Given the description of an element on the screen output the (x, y) to click on. 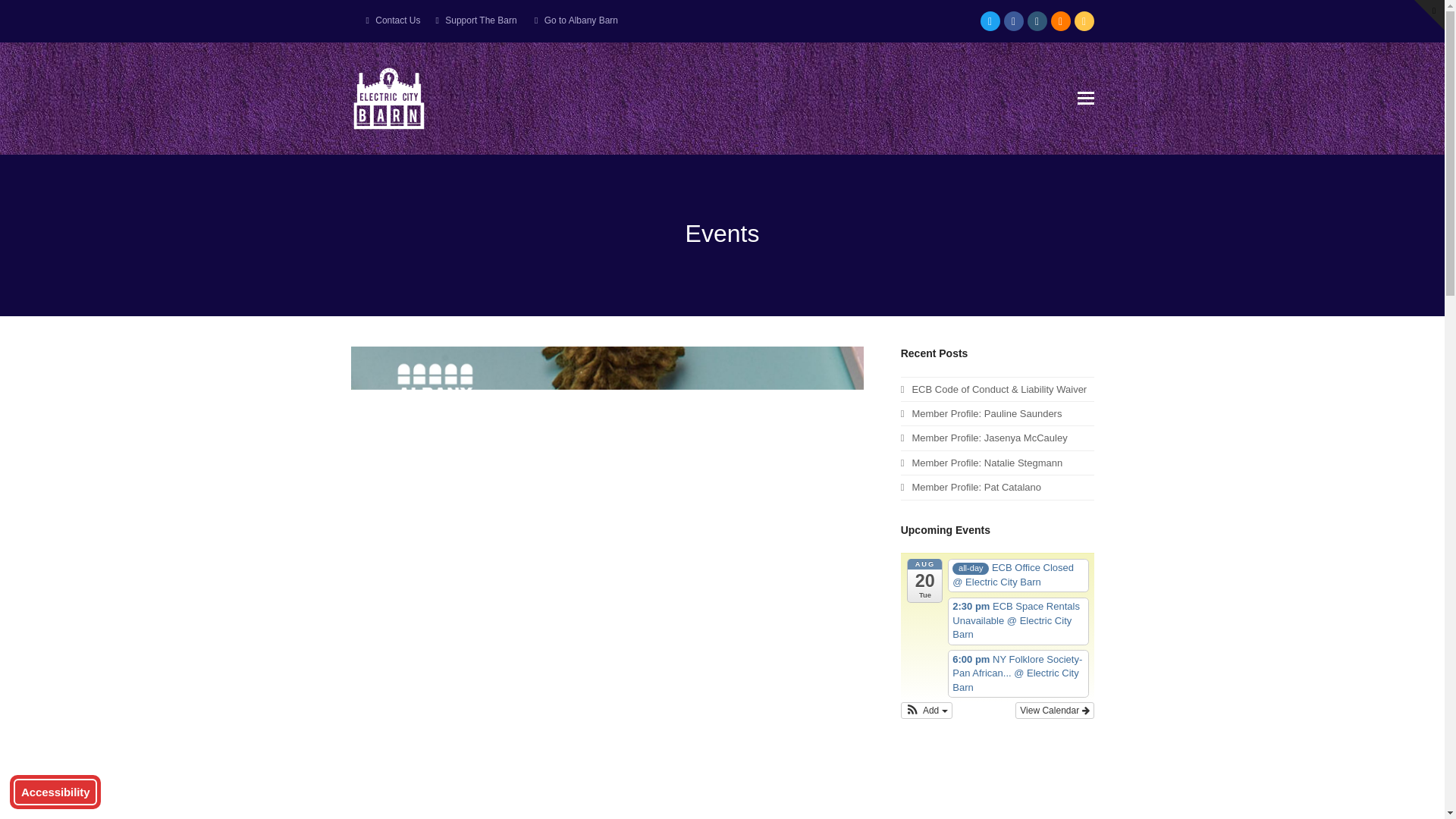
Instagram (1036, 21)
Facebook (1013, 21)
Email (1083, 21)
Go to Albany Barn (580, 20)
RSS (1060, 21)
Support The Barn (480, 20)
Instagram (1036, 21)
Contact Us (397, 20)
Accessibility Menu (55, 791)
Twitter (988, 21)
